Given the description of an element on the screen output the (x, y) to click on. 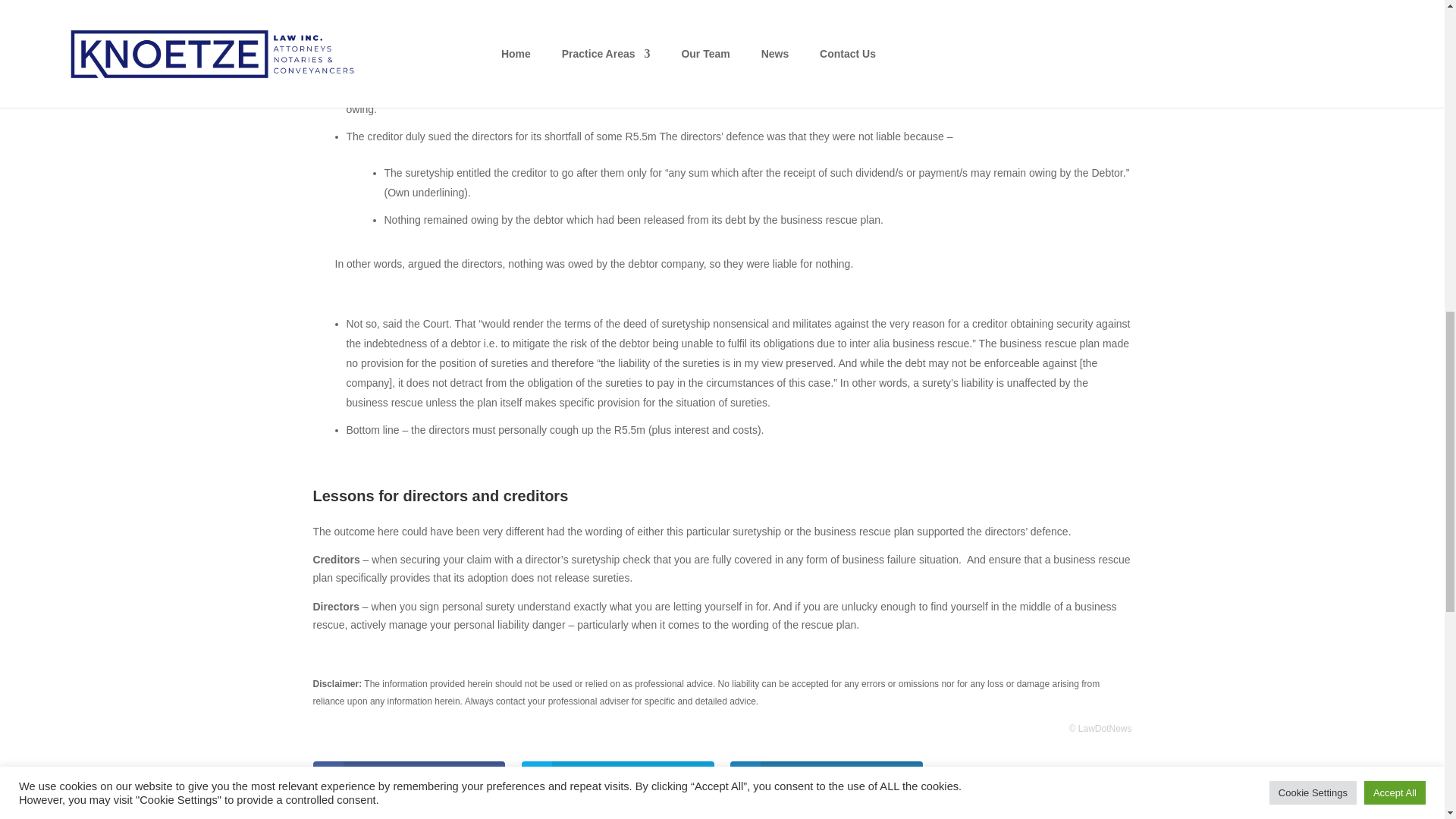
Twitter (617, 776)
Facebook (409, 776)
LinkedIn (826, 776)
